Given the description of an element on the screen output the (x, y) to click on. 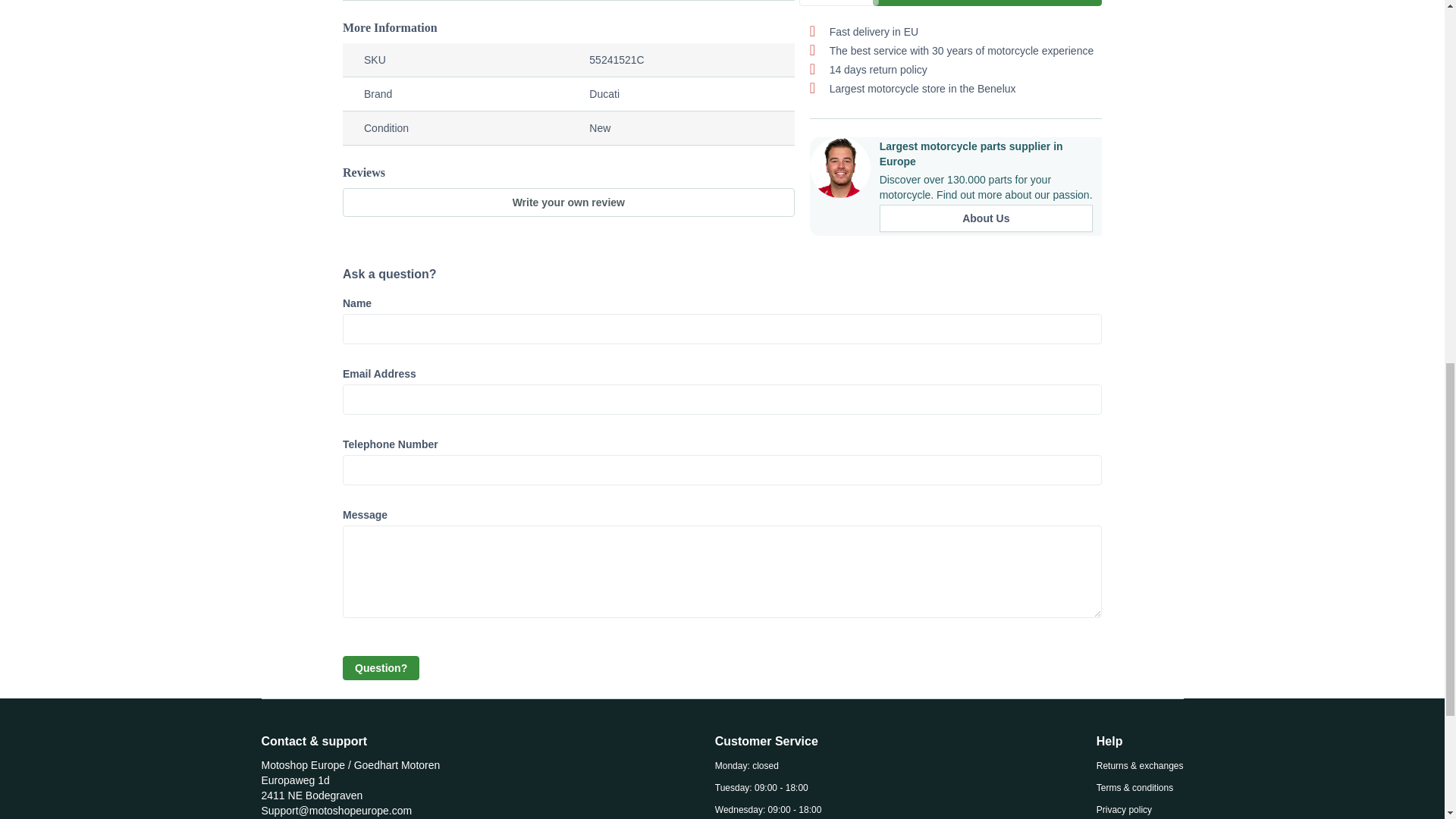
Question? (380, 668)
